Given the description of an element on the screen output the (x, y) to click on. 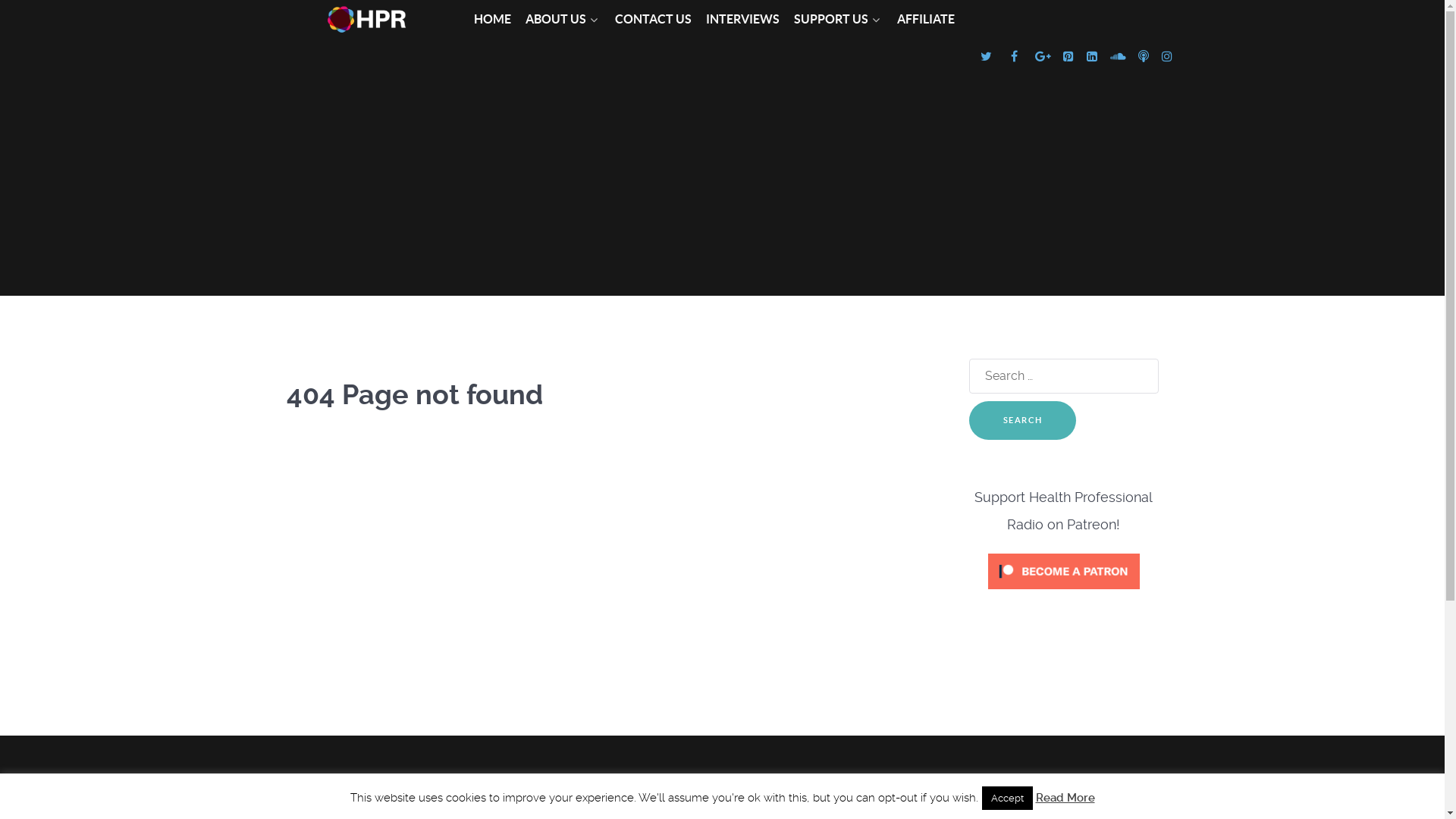
Accept Element type: text (1006, 797)
CONTACT US Element type: text (652, 20)
Search Element type: text (1022, 420)
ABOUT US Element type: text (561, 20)
INTERVIEWS Element type: text (741, 20)
SUPPORT US Element type: text (837, 20)
HOME Element type: text (491, 20)
Advertisement Element type: hover (721, 693)
Read More Element type: text (1065, 797)
Search for: Element type: hover (1063, 375)
AFFILIATE Element type: text (924, 20)
Advertisement Element type: hover (721, 798)
Advertisement Element type: hover (721, 189)
